Given the description of an element on the screen output the (x, y) to click on. 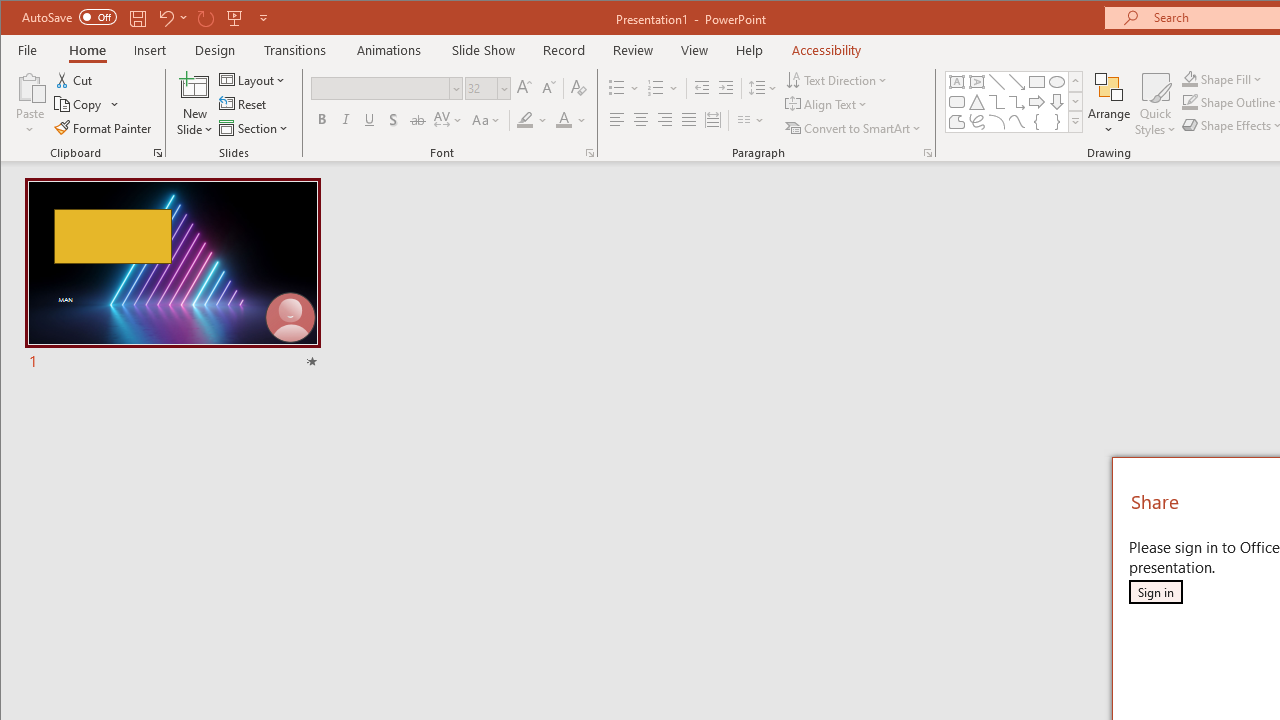
Font... (589, 152)
Reset (244, 103)
Bold (321, 119)
Connector: Elbow Arrow (1016, 102)
Line (996, 82)
Line Spacing (764, 88)
Align Left (616, 119)
Change Case (486, 119)
